Given the description of an element on the screen output the (x, y) to click on. 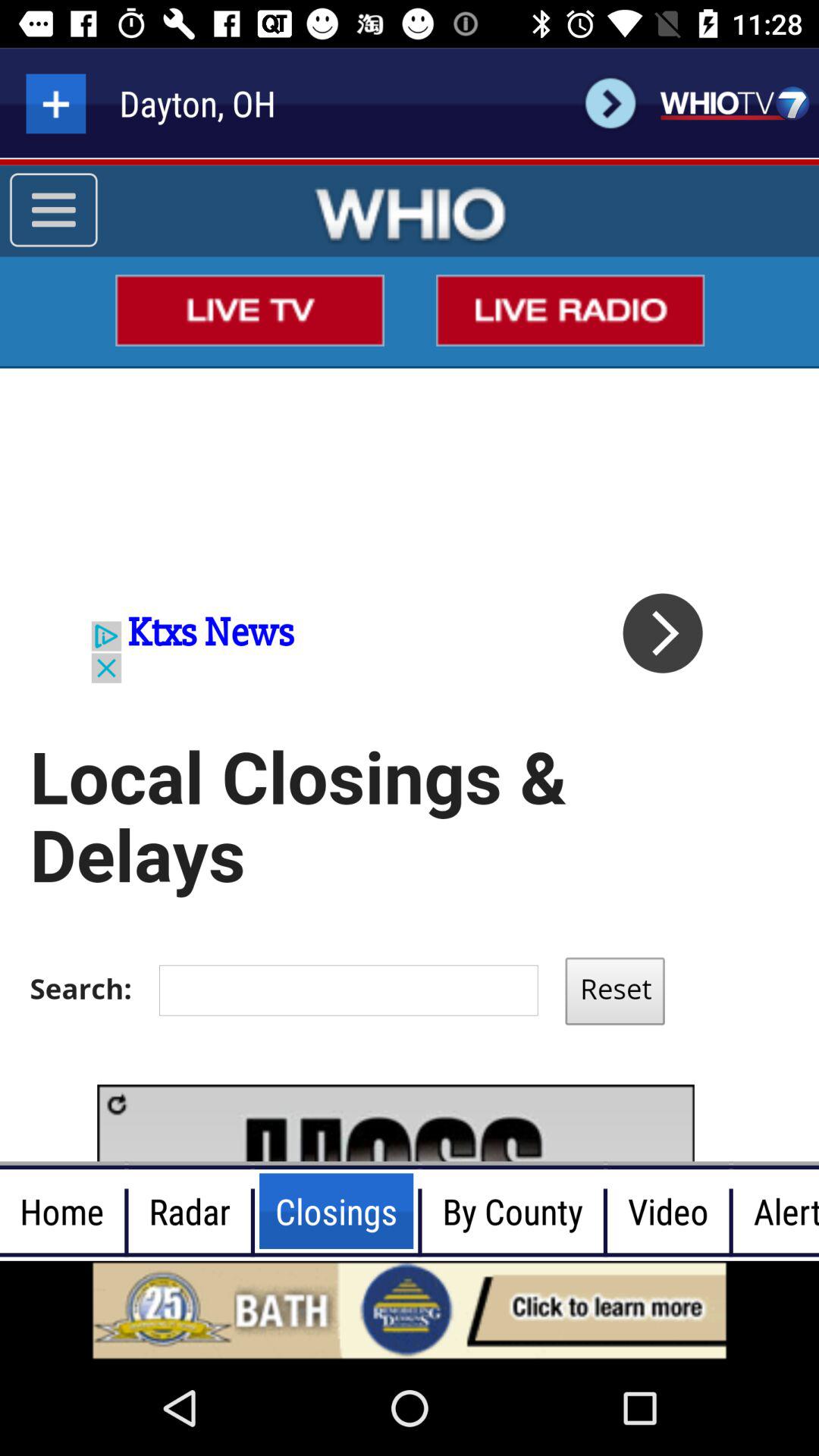
more information (55, 103)
